Given the description of an element on the screen output the (x, y) to click on. 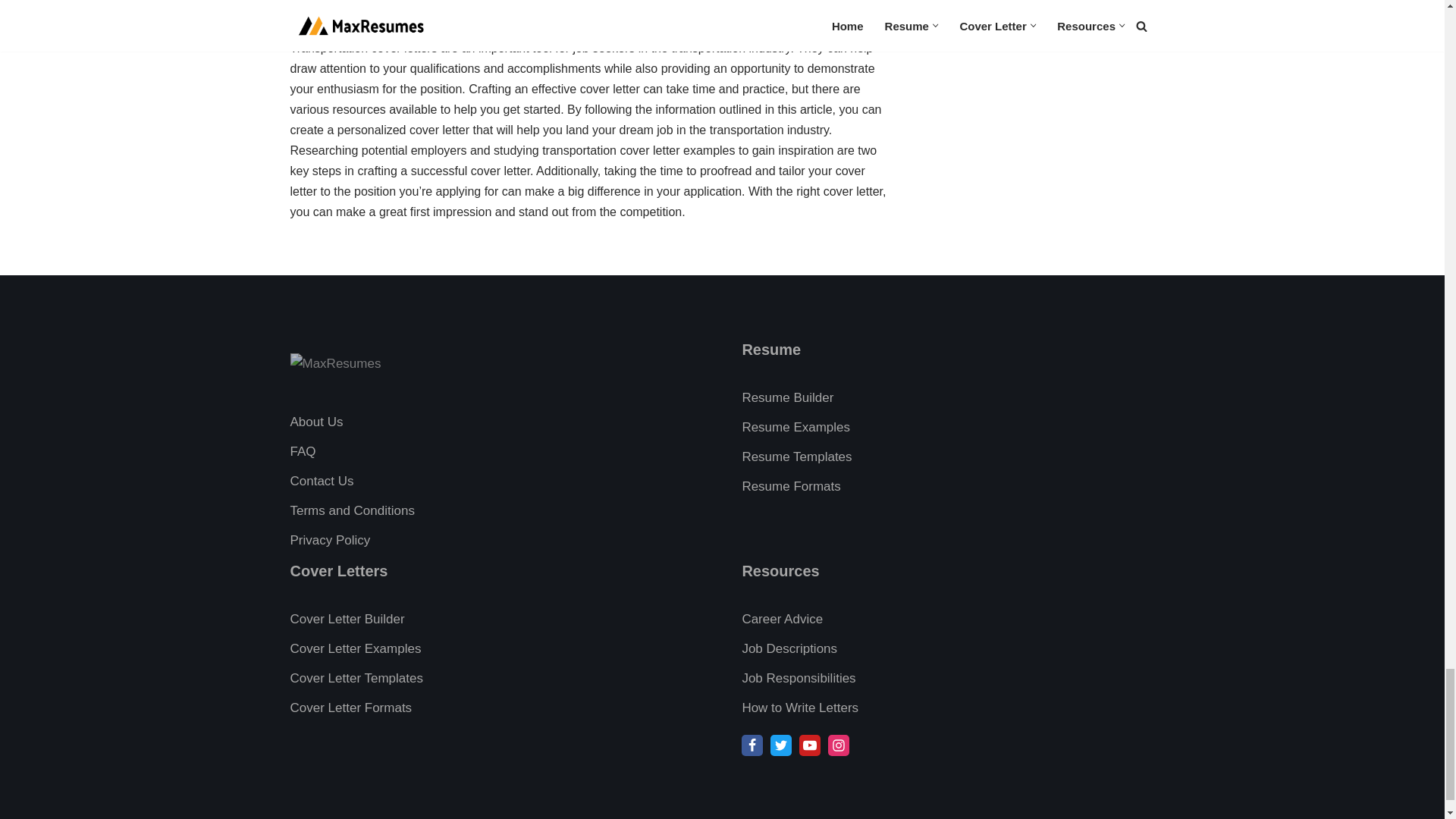
Facebook (751, 744)
Instagram (838, 744)
Twitter (781, 744)
Youtube (810, 744)
